Given the description of an element on the screen output the (x, y) to click on. 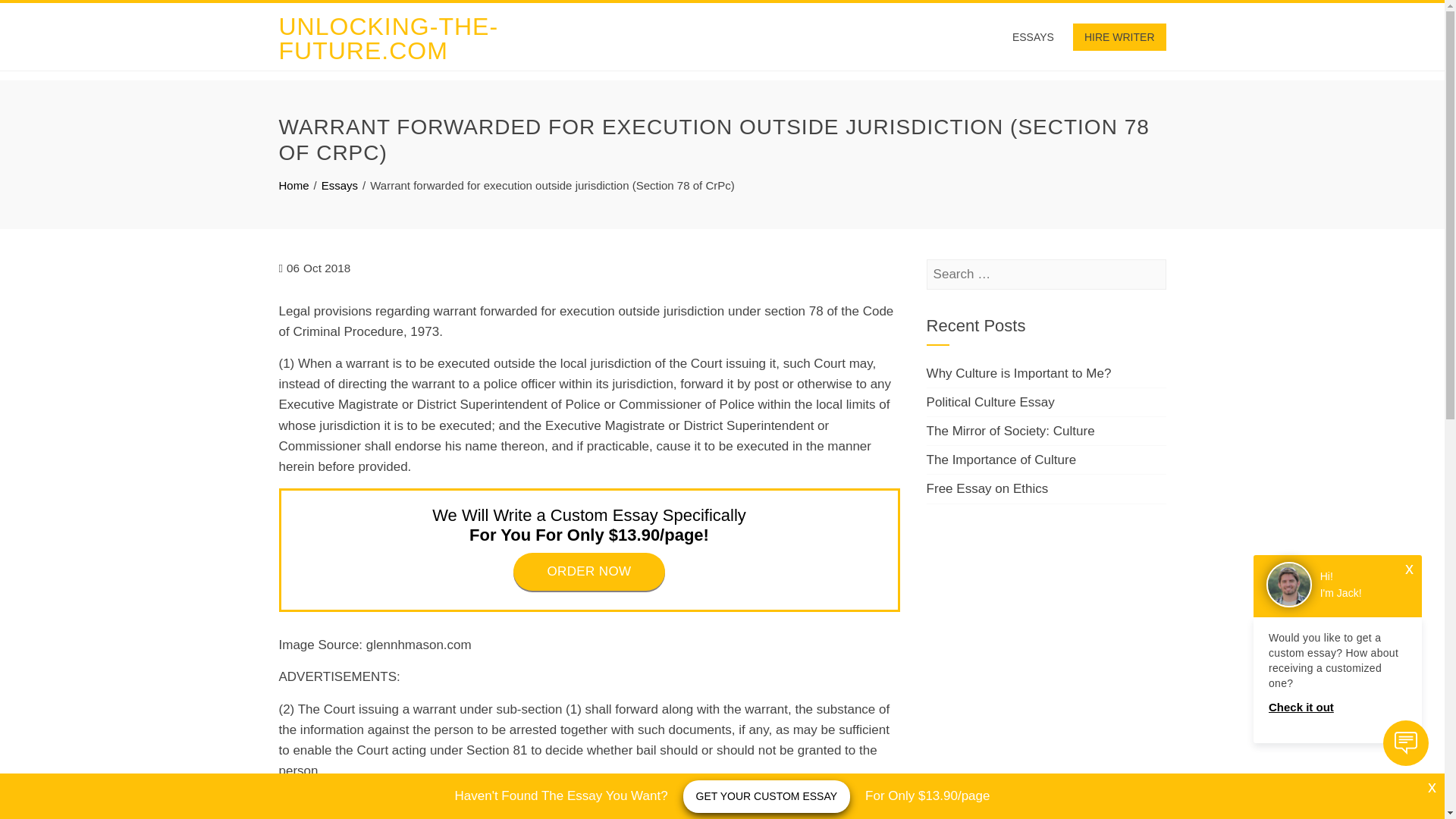
Check it out (1337, 707)
ESSAYS (1033, 36)
HIRE WRITER (1119, 36)
Political Culture Essay (990, 401)
Why Culture is Important to Me? (1019, 373)
GET YOUR CUSTOM ESSAY (766, 795)
Search (35, 15)
Home (293, 185)
The Importance of Culture (1000, 459)
The Mirror of Society: Culture (1010, 431)
